Given the description of an element on the screen output the (x, y) to click on. 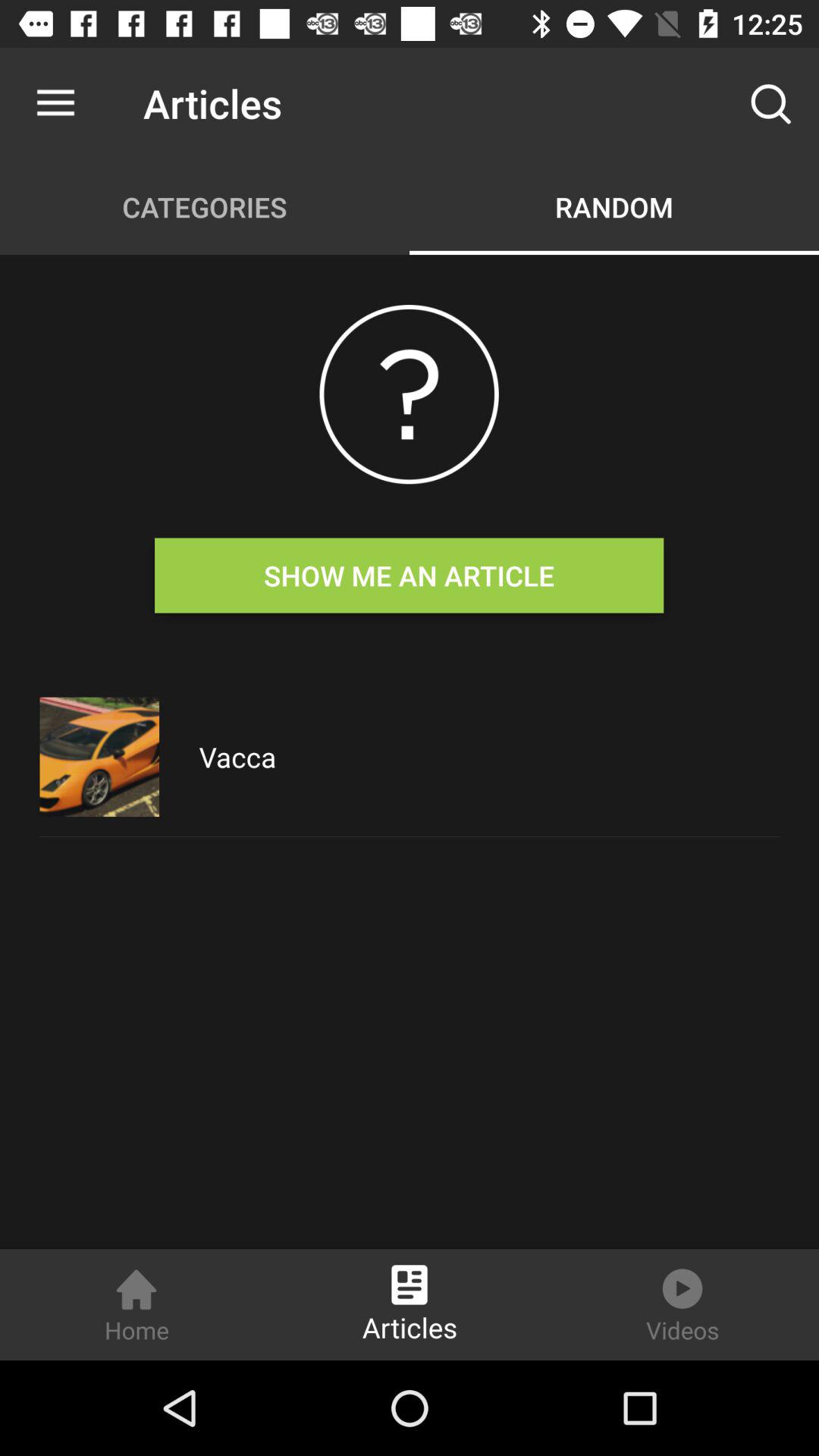
flip until the show me an item (408, 575)
